Given the description of an element on the screen output the (x, y) to click on. 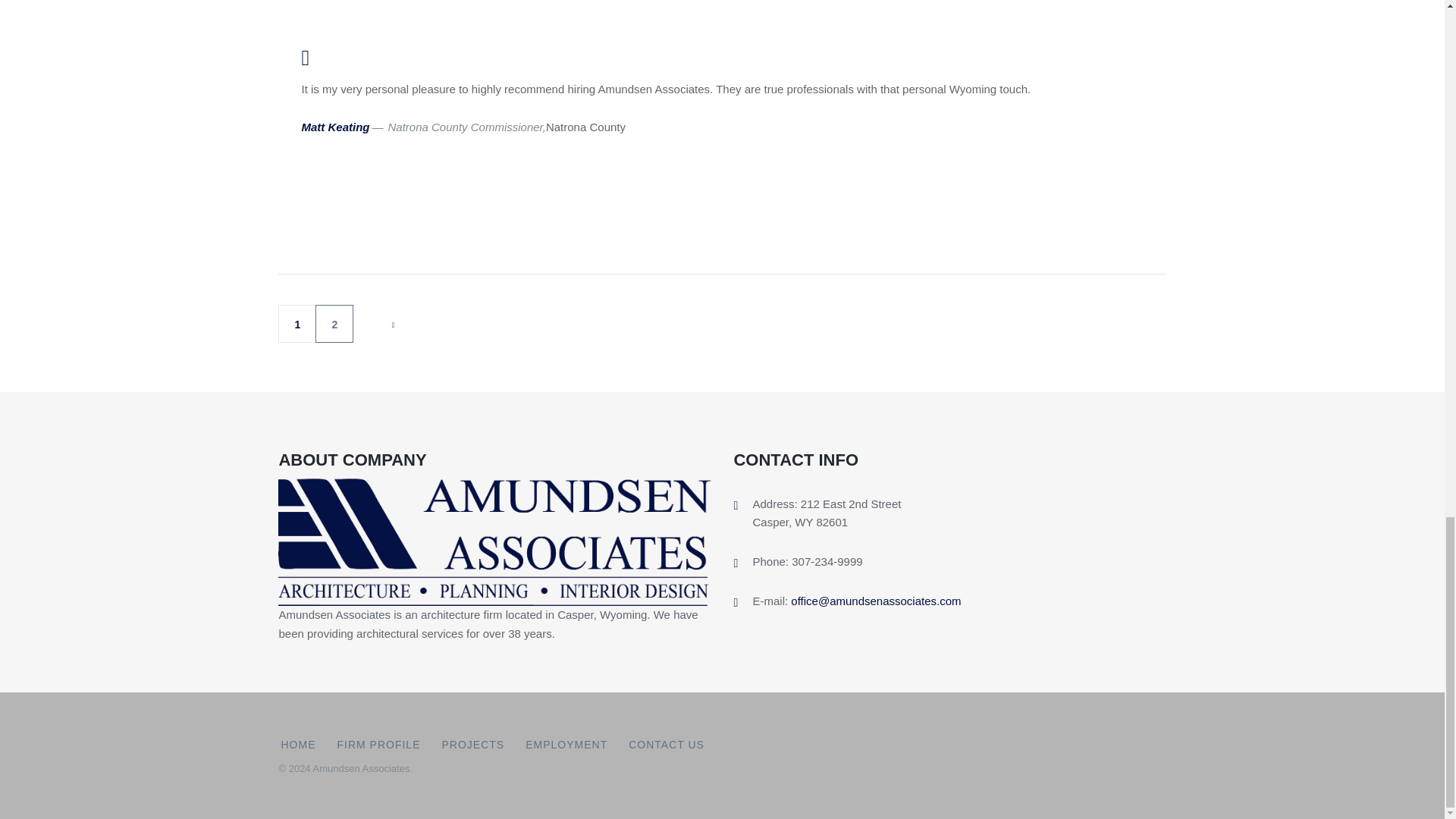
EMPLOYMENT (566, 744)
Matt Keating (335, 126)
FIRM PROFILE (378, 744)
PROJECTS (472, 744)
2 (334, 323)
CONTACT US (666, 744)
HOME (298, 744)
